Given the description of an element on the screen output the (x, y) to click on. 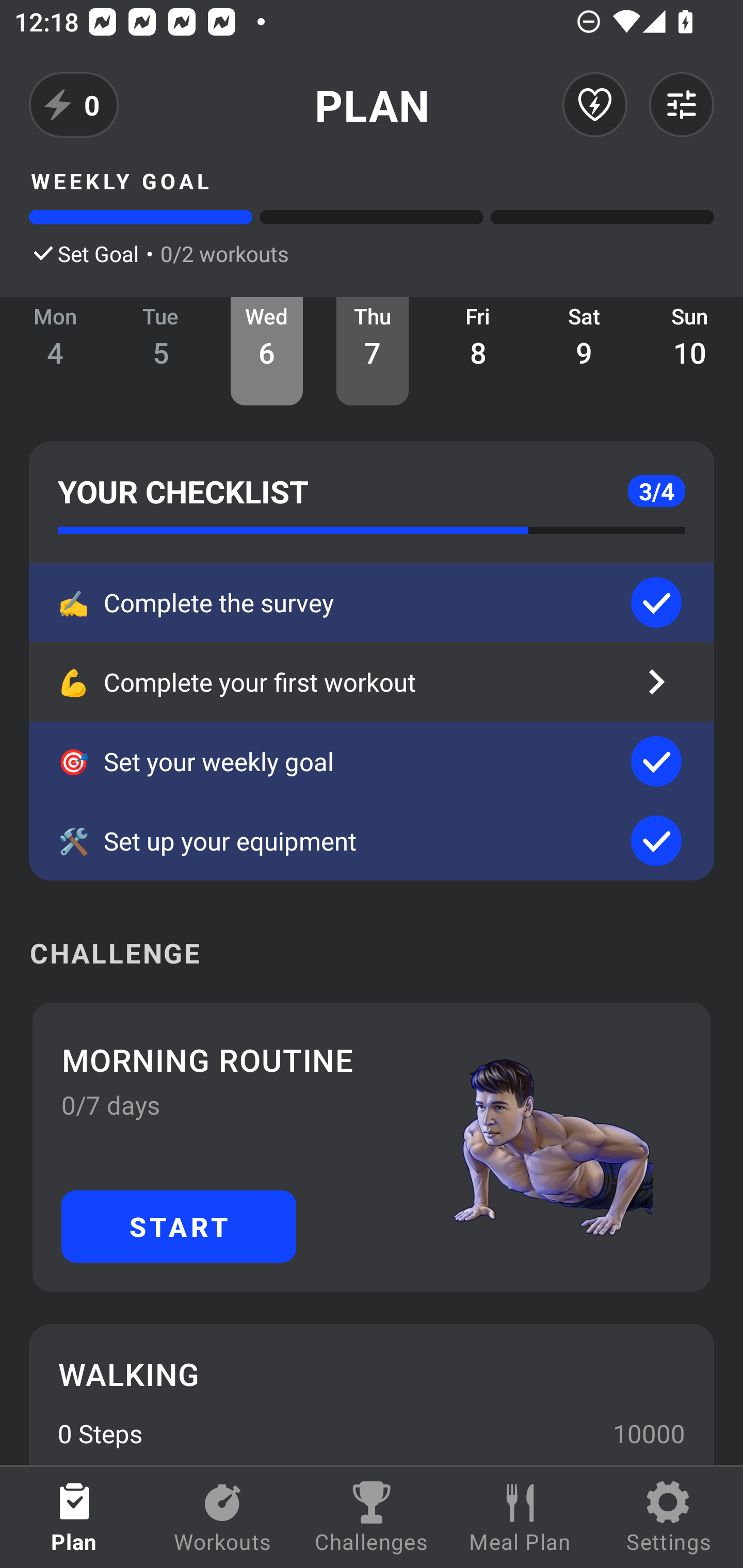
0 (73, 104)
Mon 4 (55, 351)
Tue 5 (160, 351)
Wed 6 (266, 351)
Thu 7 (372, 351)
Fri 8 (478, 351)
Sat 9 (584, 351)
Sun 10 (690, 351)
💪 Complete your first workout (371, 681)
MORNING ROUTINE 0/7 days START (371, 1146)
START (178, 1226)
WALKING 0 Steps 10000 (371, 1393)
 Workouts  (222, 1517)
 Challenges  (371, 1517)
 Meal Plan  (519, 1517)
 Settings  (668, 1517)
